Given the description of an element on the screen output the (x, y) to click on. 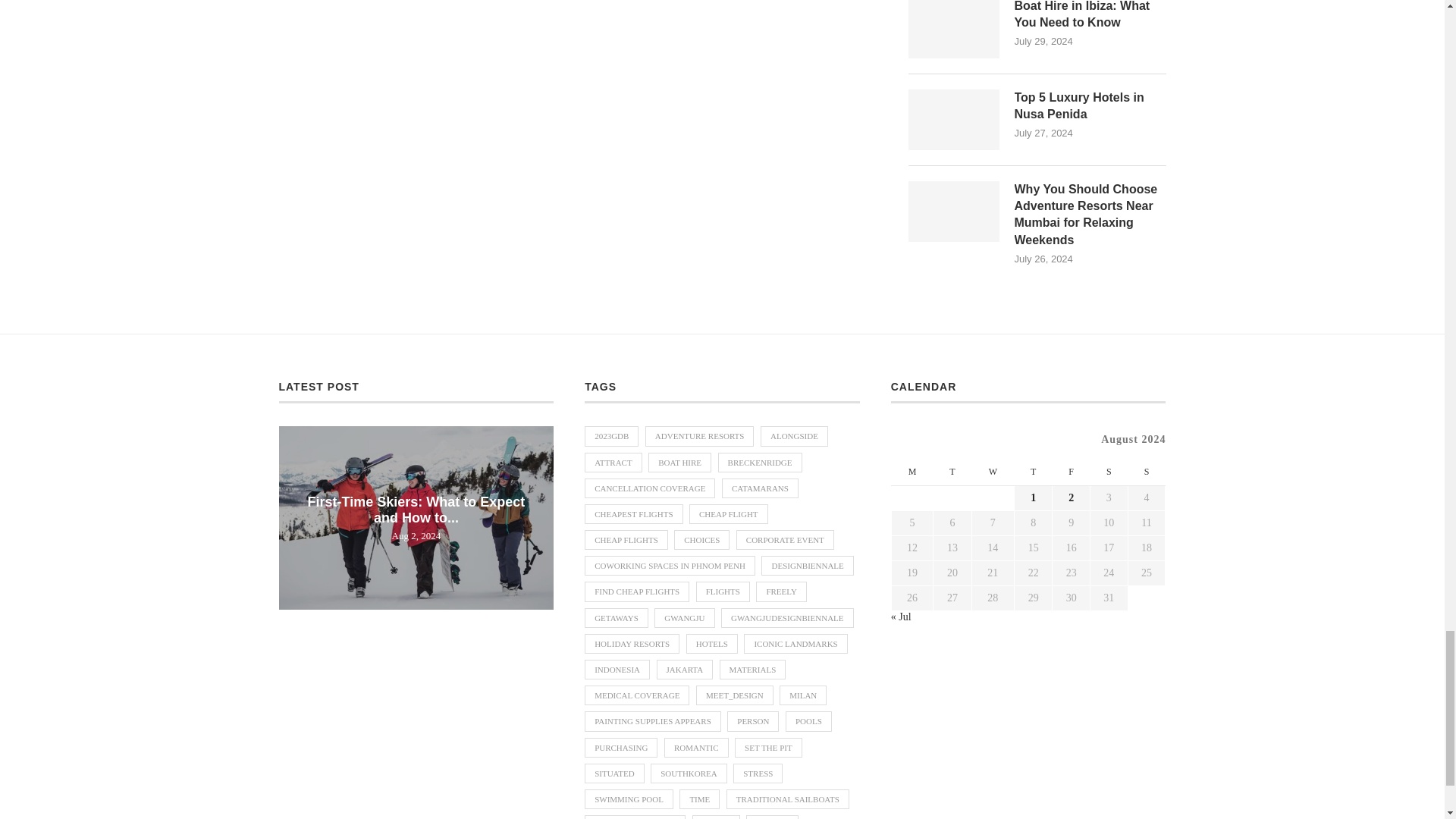
Top 5 Luxury Hotels in Nusa Penida (953, 119)
Boat Hire in Ibiza: What You Need to Know (953, 29)
Top 5 Luxury Hotels in Nusa Penida (1090, 106)
Boat Hire in Ibiza: What You Need to Know (1090, 15)
